Given the description of an element on the screen output the (x, y) to click on. 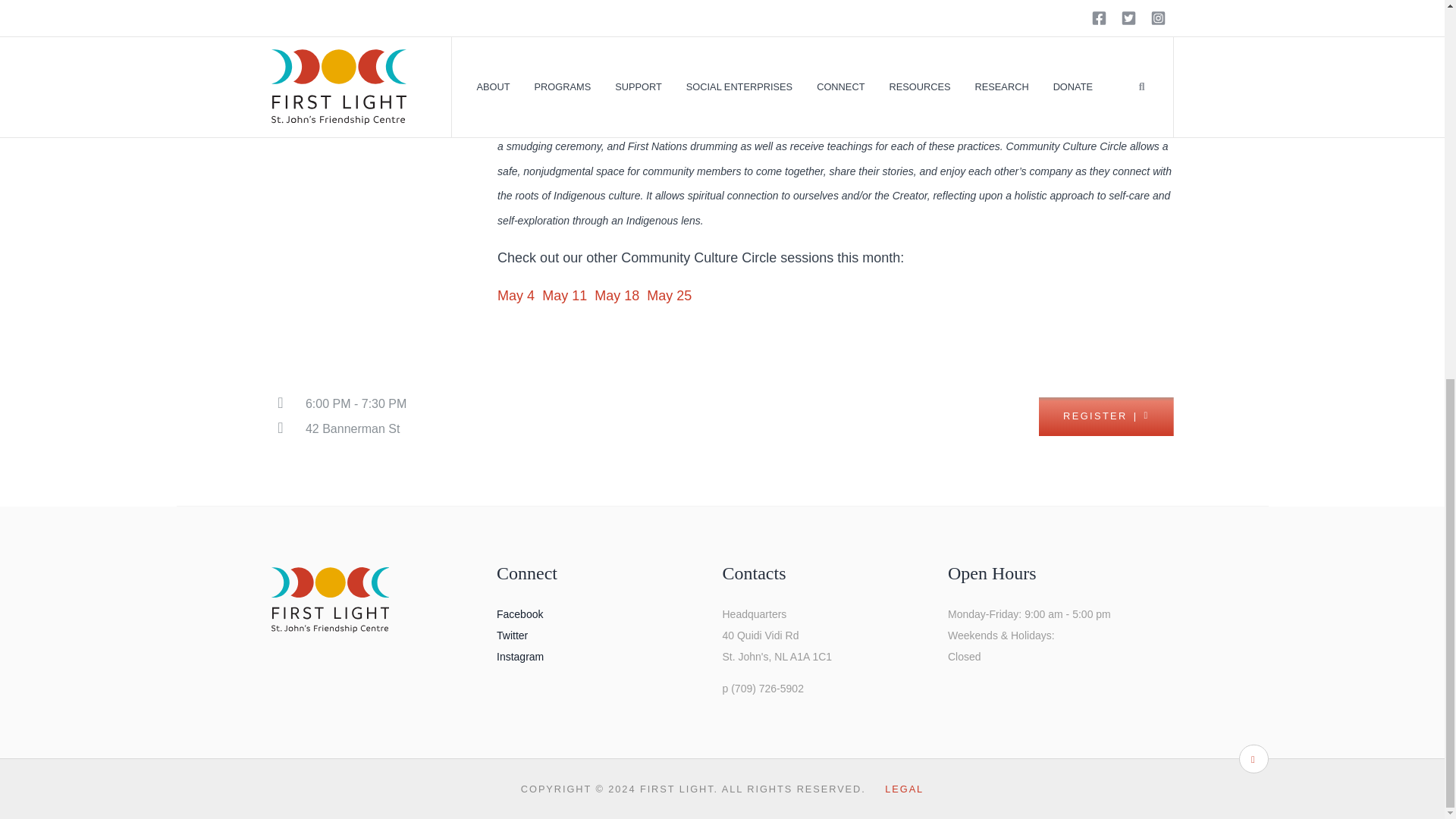
Facebook (519, 613)
Twitter (511, 635)
WaterWerks Agency (727, 95)
May 4  (517, 295)
May 11 (563, 295)
LEGAL (904, 788)
REGISTER (1106, 416)
Instagram (519, 656)
May 25 (668, 295)
May 18  (618, 295)
